Given the description of an element on the screen output the (x, y) to click on. 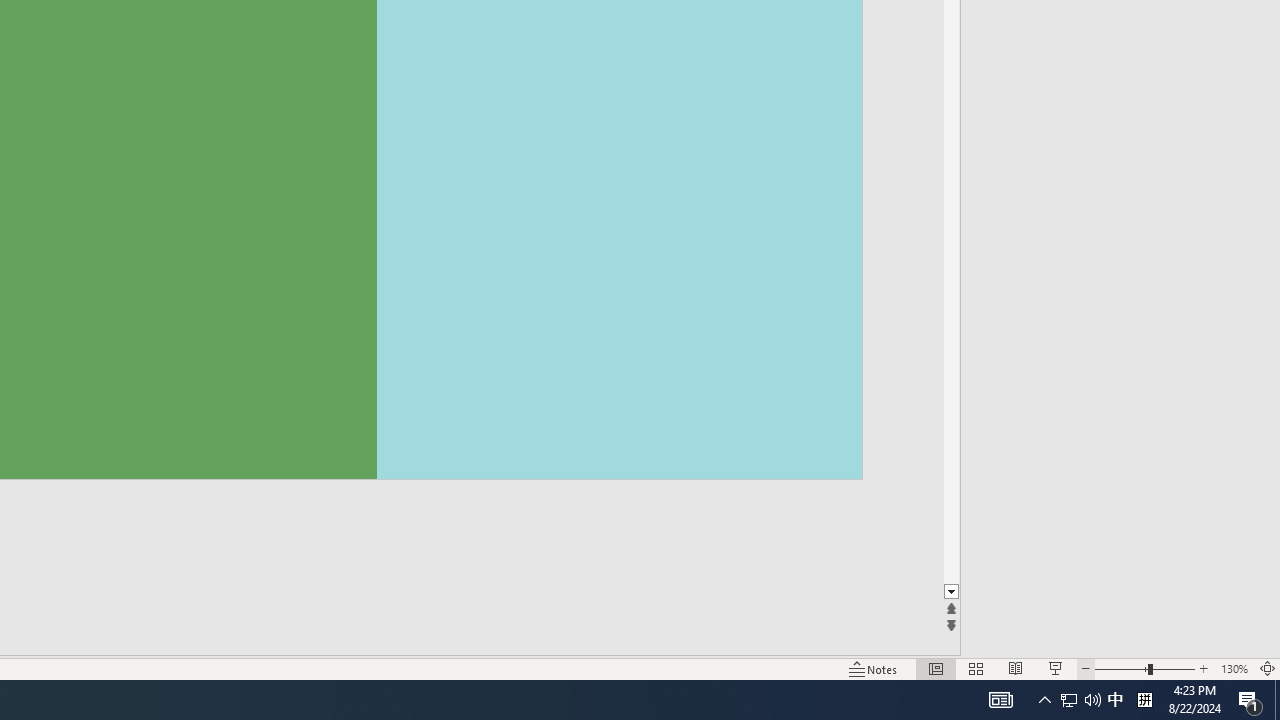
Zoom 130% (1234, 668)
